Given the description of an element on the screen output the (x, y) to click on. 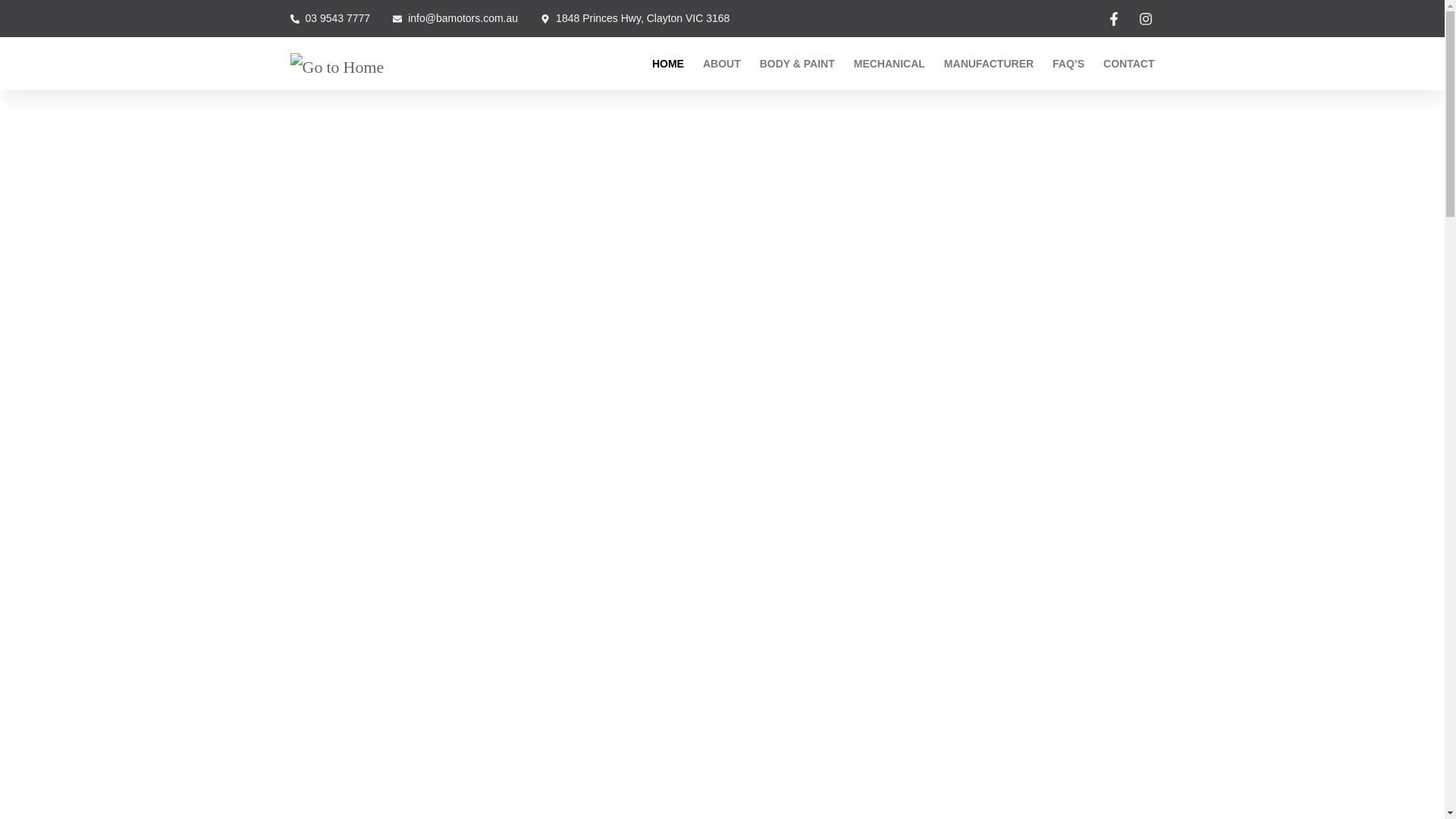
MECHANICAL (888, 63)
ABOUT (722, 63)
CONTACT (1128, 63)
03 9543 7777 (329, 18)
MANUFACTURER (988, 63)
HOME (668, 63)
1848 Princes Hwy, Clayton VIC 3168 (634, 18)
